Given the description of an element on the screen output the (x, y) to click on. 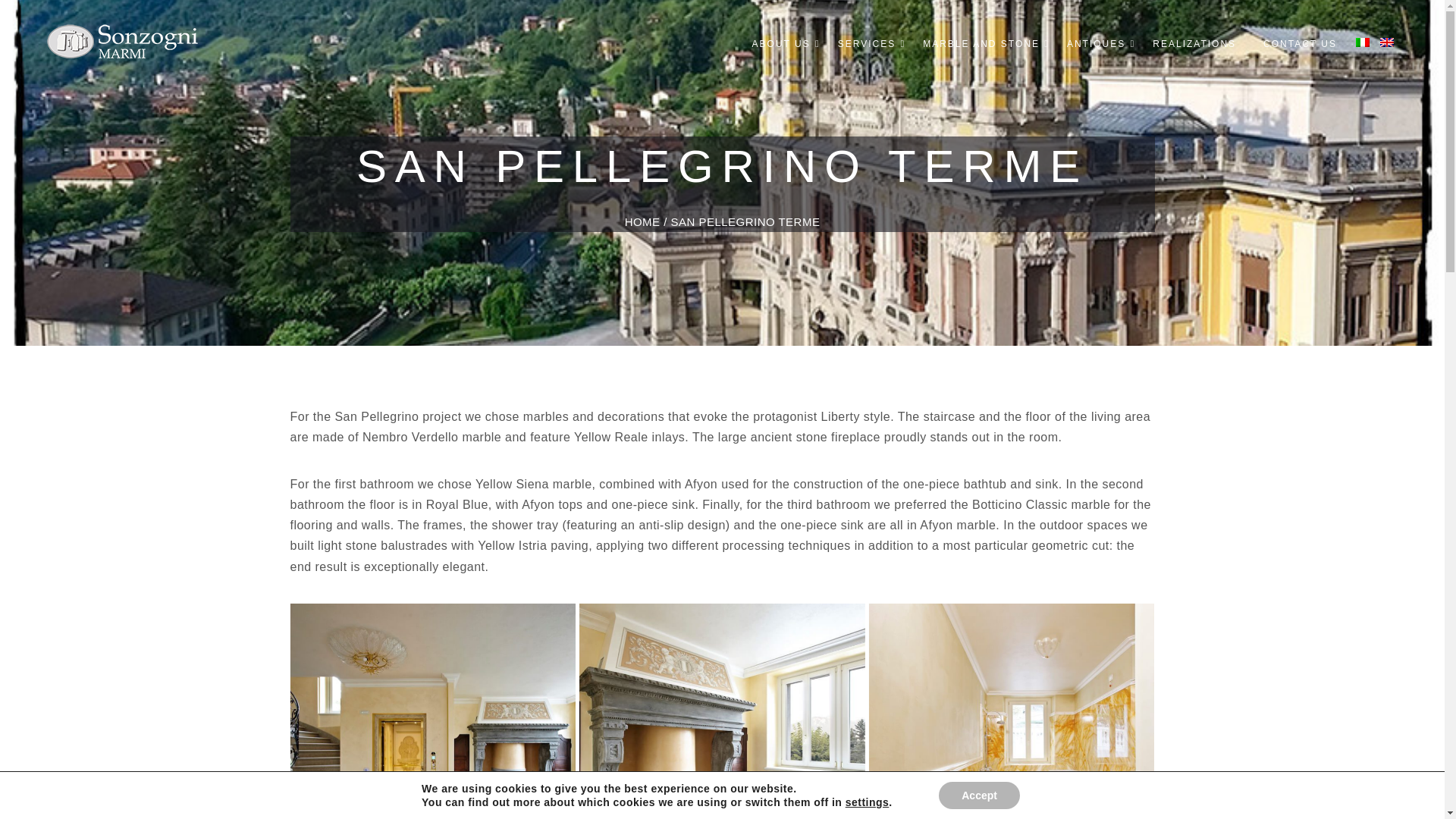
SERVICES (866, 43)
English (1386, 41)
Sonzogni Marmi (122, 39)
MARBLE AND STONE (980, 43)
ABOUT US (781, 43)
CONTACT US (1300, 43)
ANTIQUES (1095, 43)
REALIZATIONS (1193, 43)
Italiano (1362, 41)
